Given the description of an element on the screen output the (x, y) to click on. 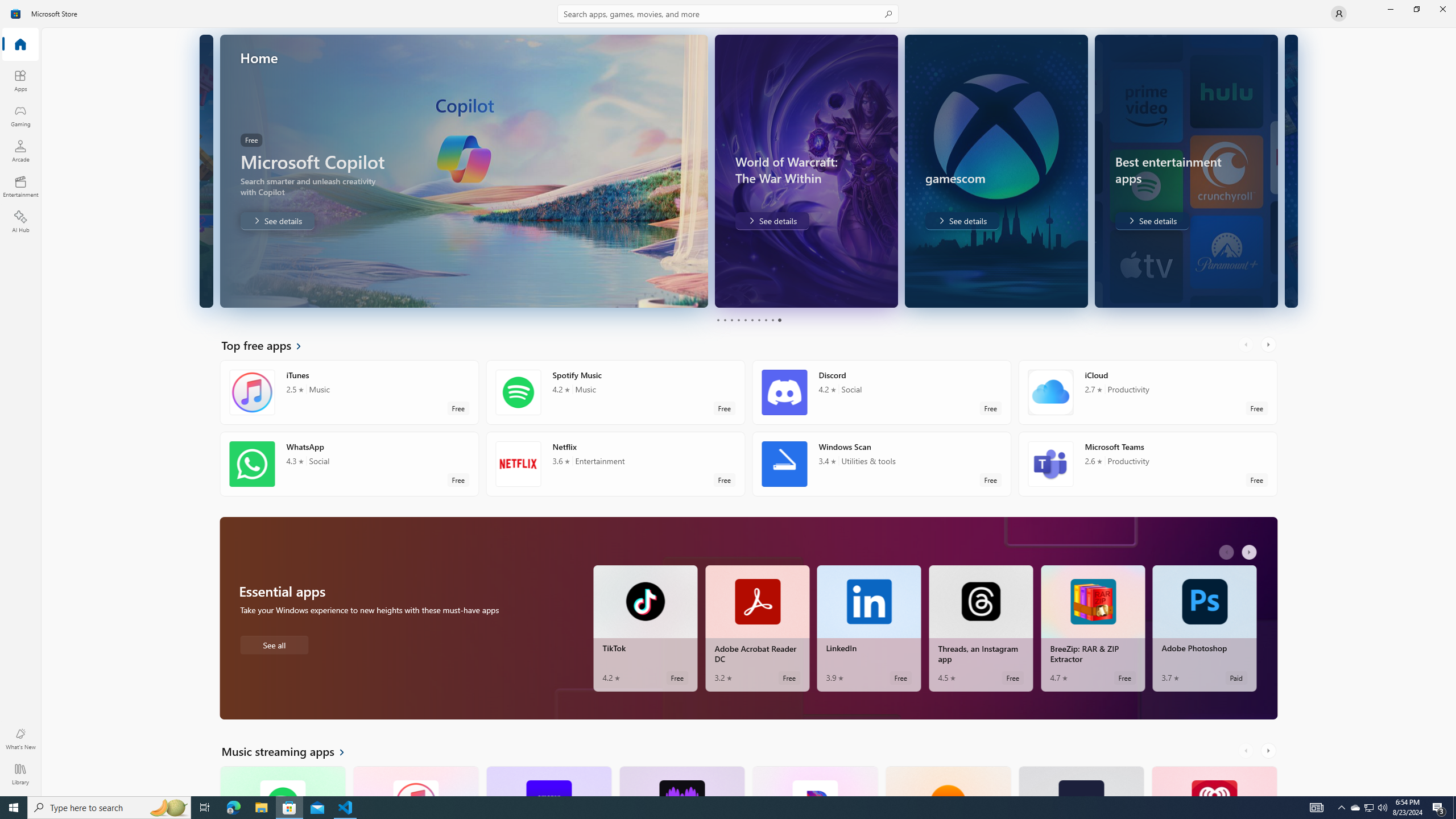
Restore Microsoft Store (1416, 9)
TikTok. Average rating of 4.2 out of five stars. Free   (644, 628)
Gaming (20, 115)
See all  Top free apps (268, 345)
Pager (748, 319)
Arcade (20, 150)
Page 6 (751, 319)
LinkedIn. Average rating of 3.9 out of five stars. Free   (868, 628)
Page 5 (744, 319)
Pandora. Average rating of 4.5 out of five stars. Free   (814, 780)
Entertainment (20, 185)
What's New (20, 738)
Home (20, 45)
